Given the description of an element on the screen output the (x, y) to click on. 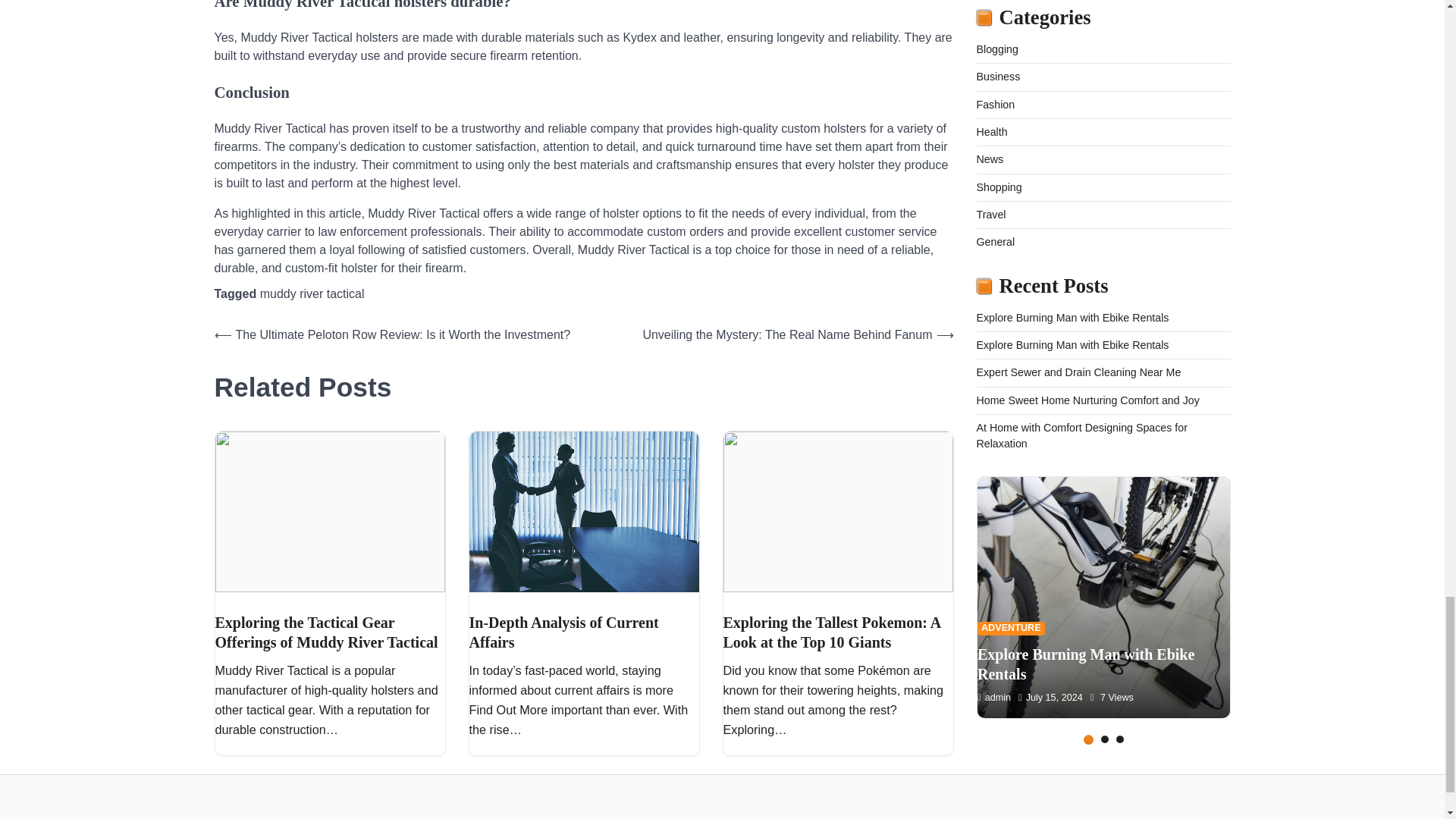
Exploring the Tallest Pokemon: A Look at the Top 10 Giants (832, 632)
muddy river tactical (312, 293)
In-Depth Analysis of Current Affairs (563, 632)
